Given the description of an element on the screen output the (x, y) to click on. 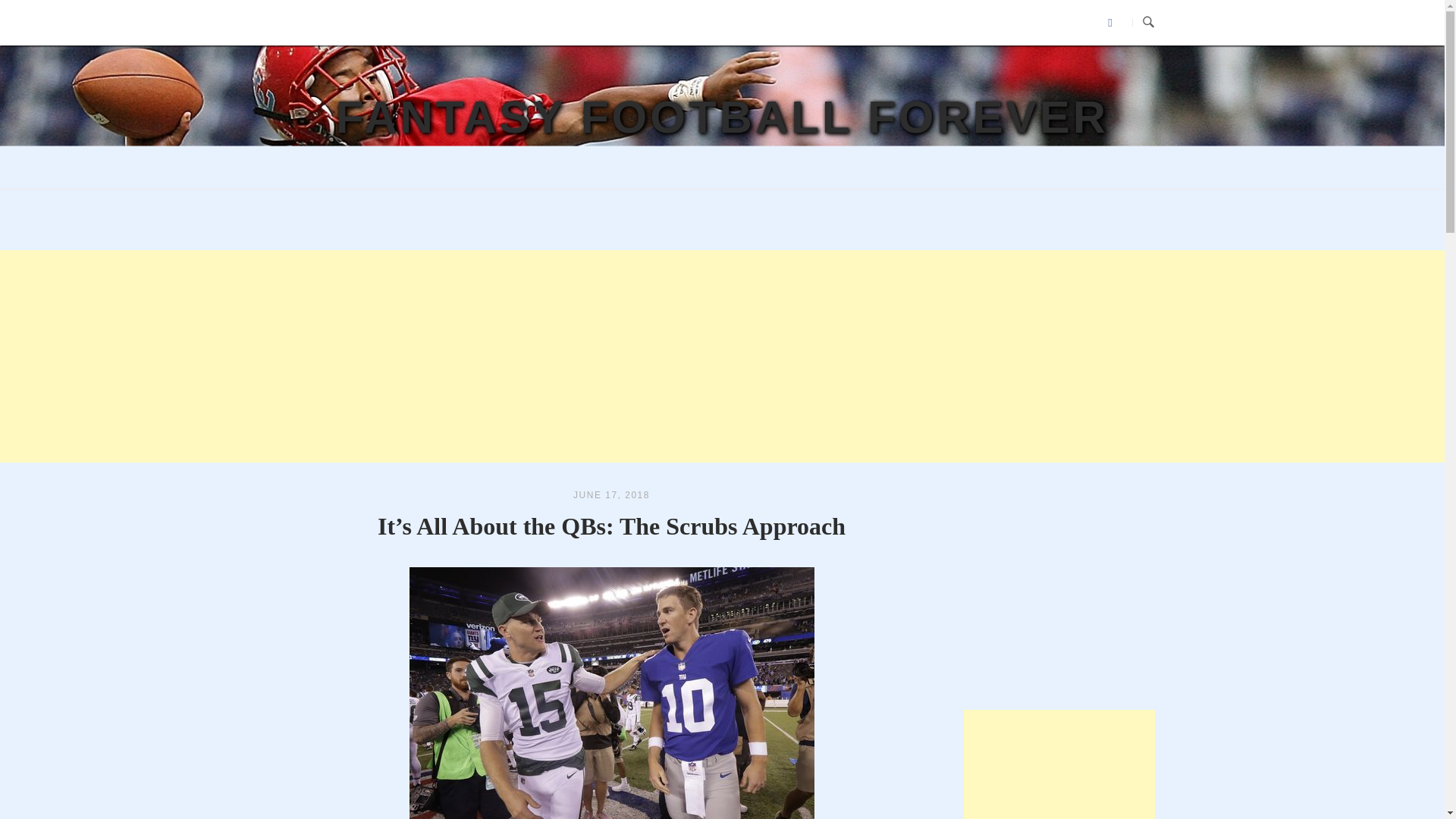
Fantasy Football Forever on Facebook (1110, 22)
FANTASY FOOTBALL FOREVER (722, 116)
Advertisement (1058, 764)
